Given the description of an element on the screen output the (x, y) to click on. 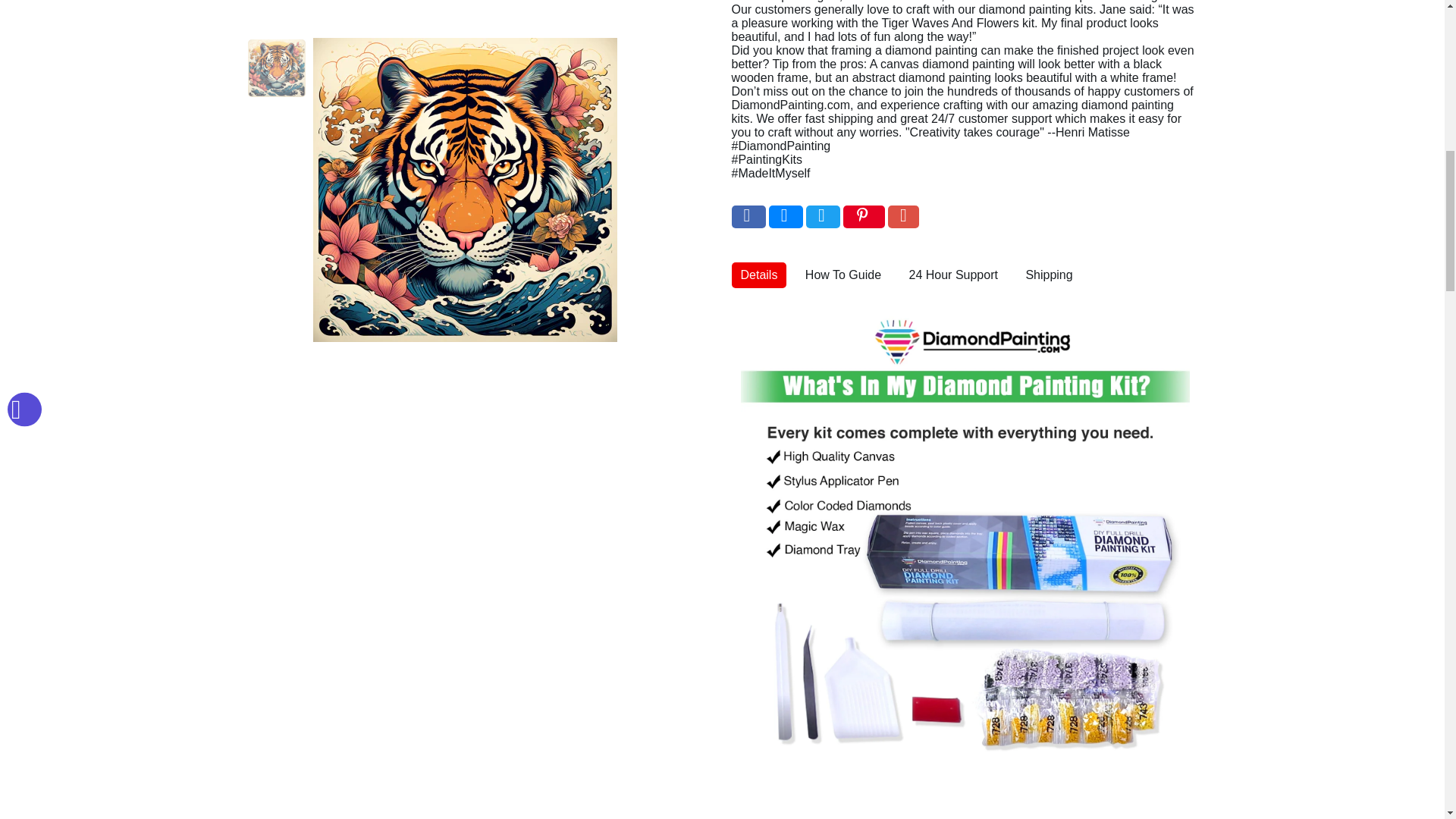
All product reviews widget (722, 811)
